Given the description of an element on the screen output the (x, y) to click on. 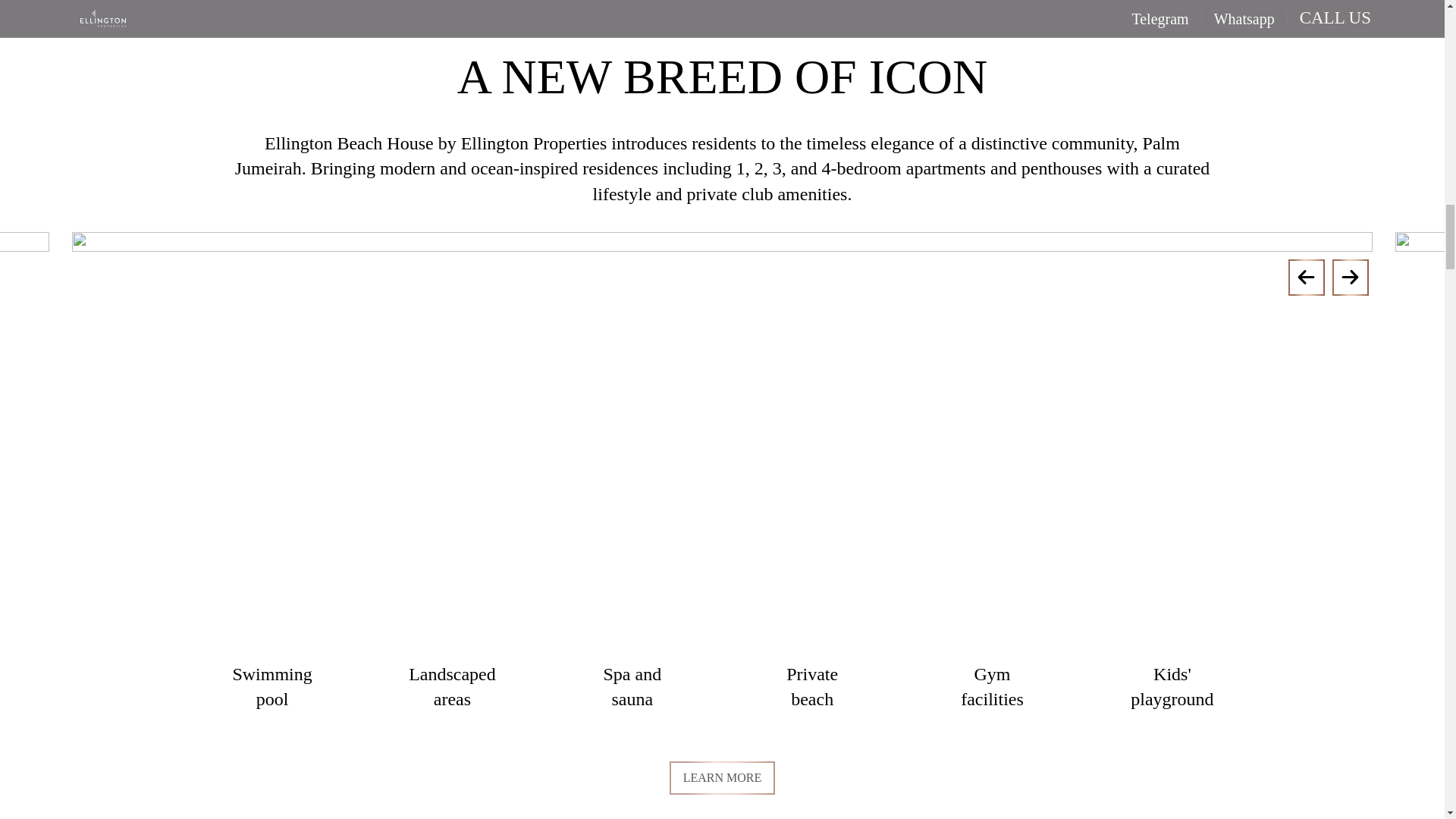
LEARN MORE (722, 777)
